Given the description of an element on the screen output the (x, y) to click on. 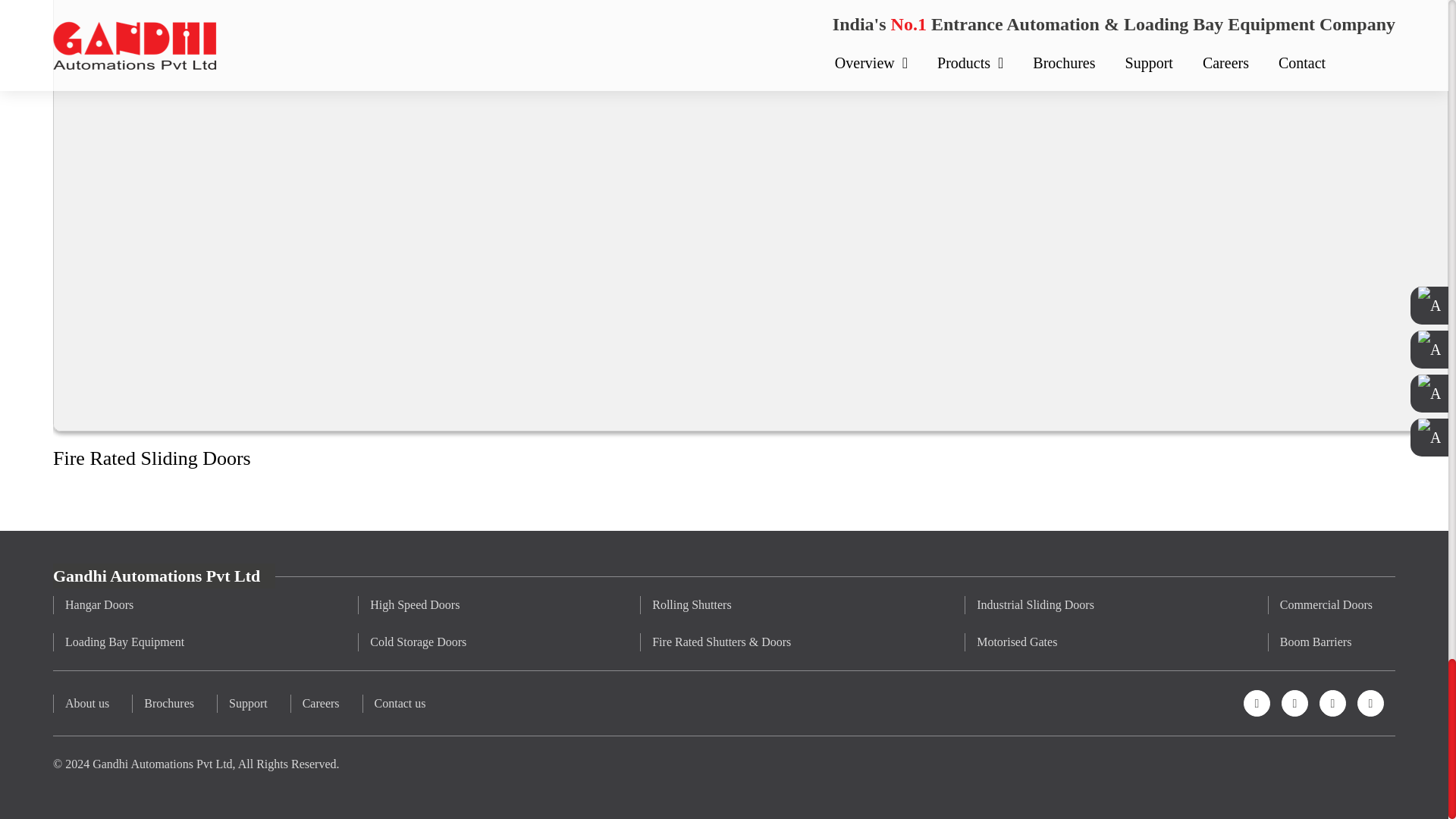
Boom Barriers (1326, 642)
Hangar Doors (123, 605)
Commercial Doors (1326, 605)
Motorised Gates (1034, 642)
Industrial Sliding Doors (1034, 605)
High Speed Doors (417, 605)
Cold Storage Doors (417, 642)
Loading Bay Equipment (123, 642)
About us (86, 703)
Rolling Shutters (721, 605)
